Given the description of an element on the screen output the (x, y) to click on. 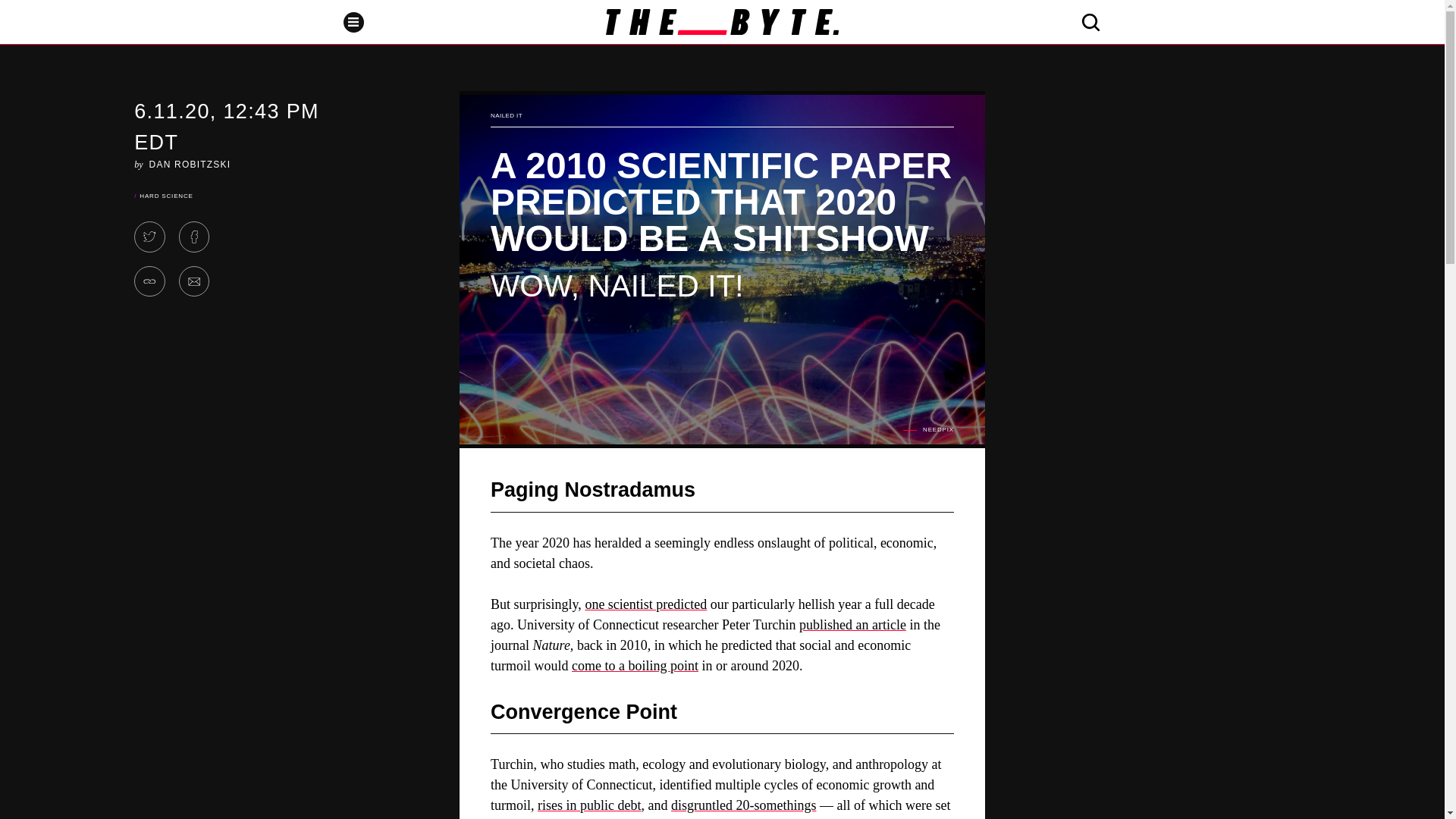
Tweet This (149, 236)
HARD SCIENCE (165, 195)
Copy Link (149, 281)
Share via Email (194, 281)
published an article (852, 624)
rises in public debt (588, 805)
Dan Robitzski (190, 163)
Hard Science (165, 195)
DAN ROBITZSKI (190, 163)
